Given the description of an element on the screen output the (x, y) to click on. 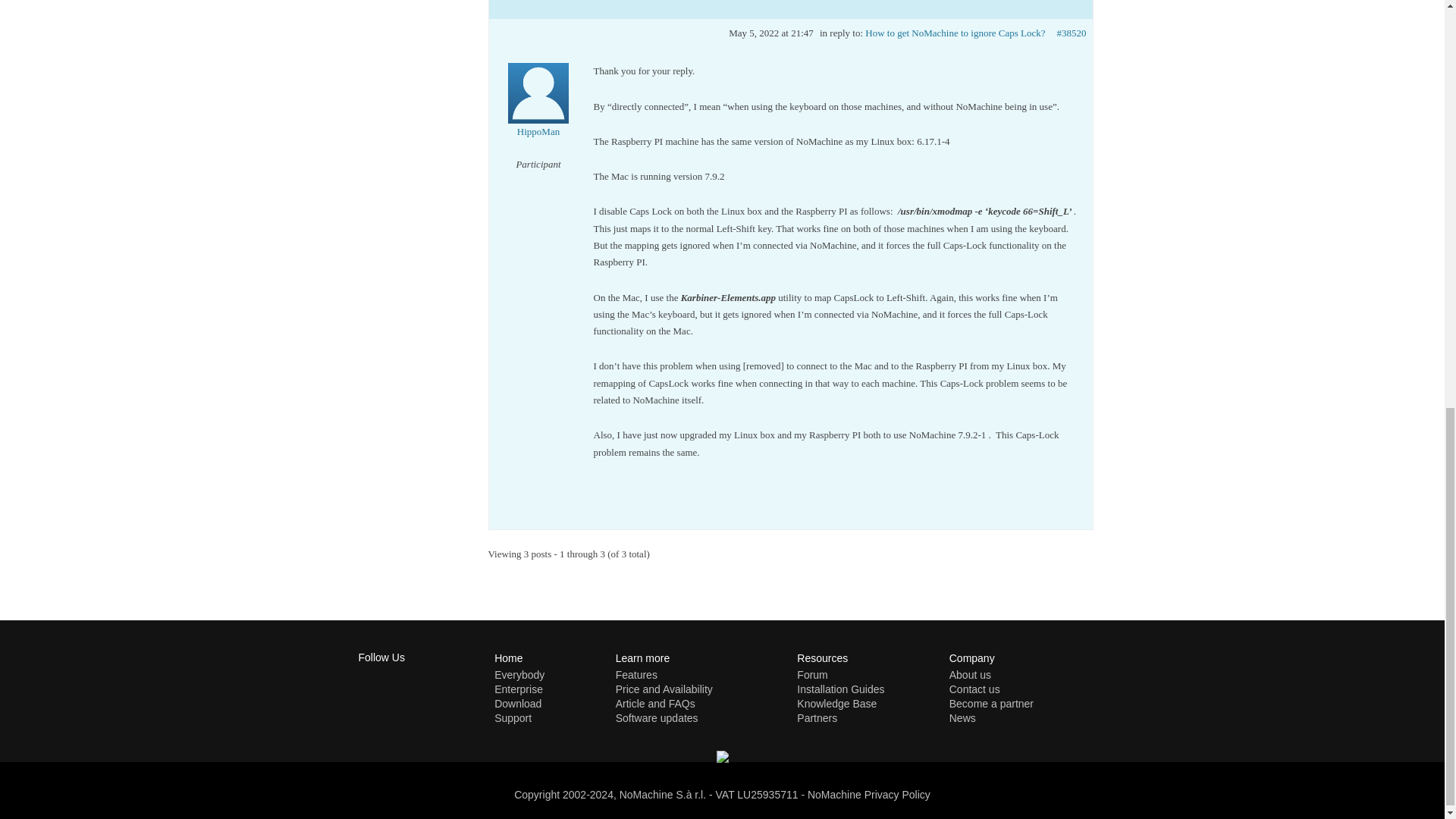
View HippoMan's profile (537, 110)
